Given the description of an element on the screen output the (x, y) to click on. 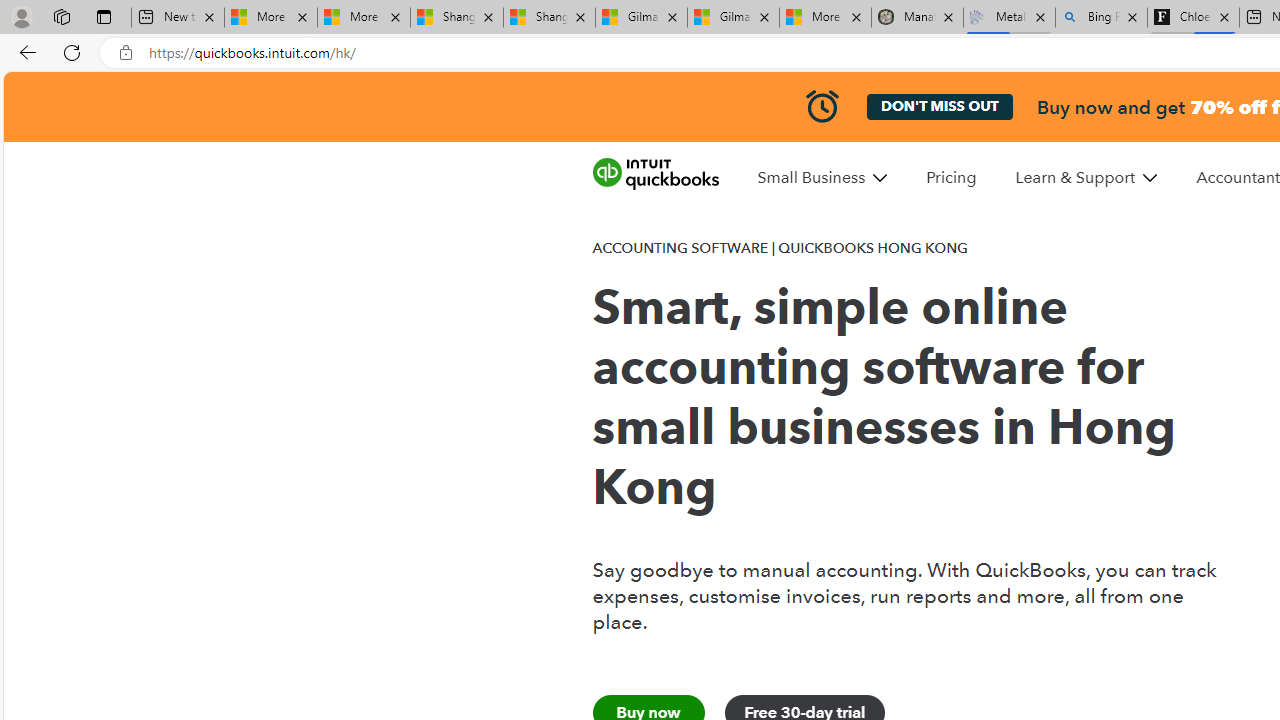
Learn & Support (1075, 177)
Small Business (822, 177)
quickbooks (655, 173)
Pricing (950, 177)
Workspaces (61, 16)
Small Business (811, 177)
Chloe Sorvino (1193, 17)
Back (24, 52)
New tab (177, 17)
Learn & Support (1086, 177)
Class: MenuItem_dDown__f585abf6 MenuItem_white__f585abf6 (1150, 178)
Personal Profile (21, 16)
